Given the description of an element on the screen output the (x, y) to click on. 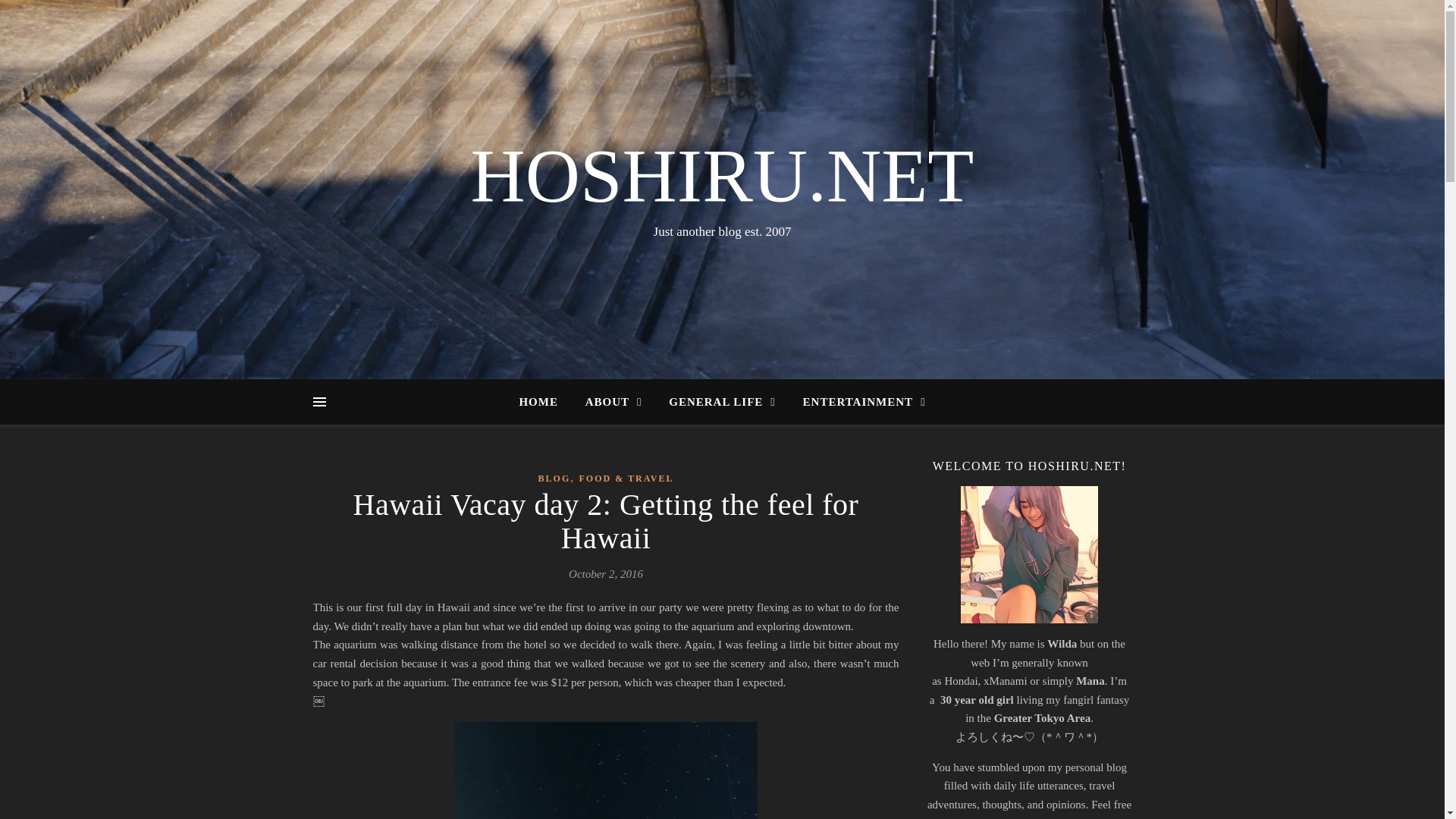
GENERAL LIFE (721, 402)
ABOUT (613, 402)
HOME (544, 402)
ENTERTAINMENT (858, 402)
